Given the description of an element on the screen output the (x, y) to click on. 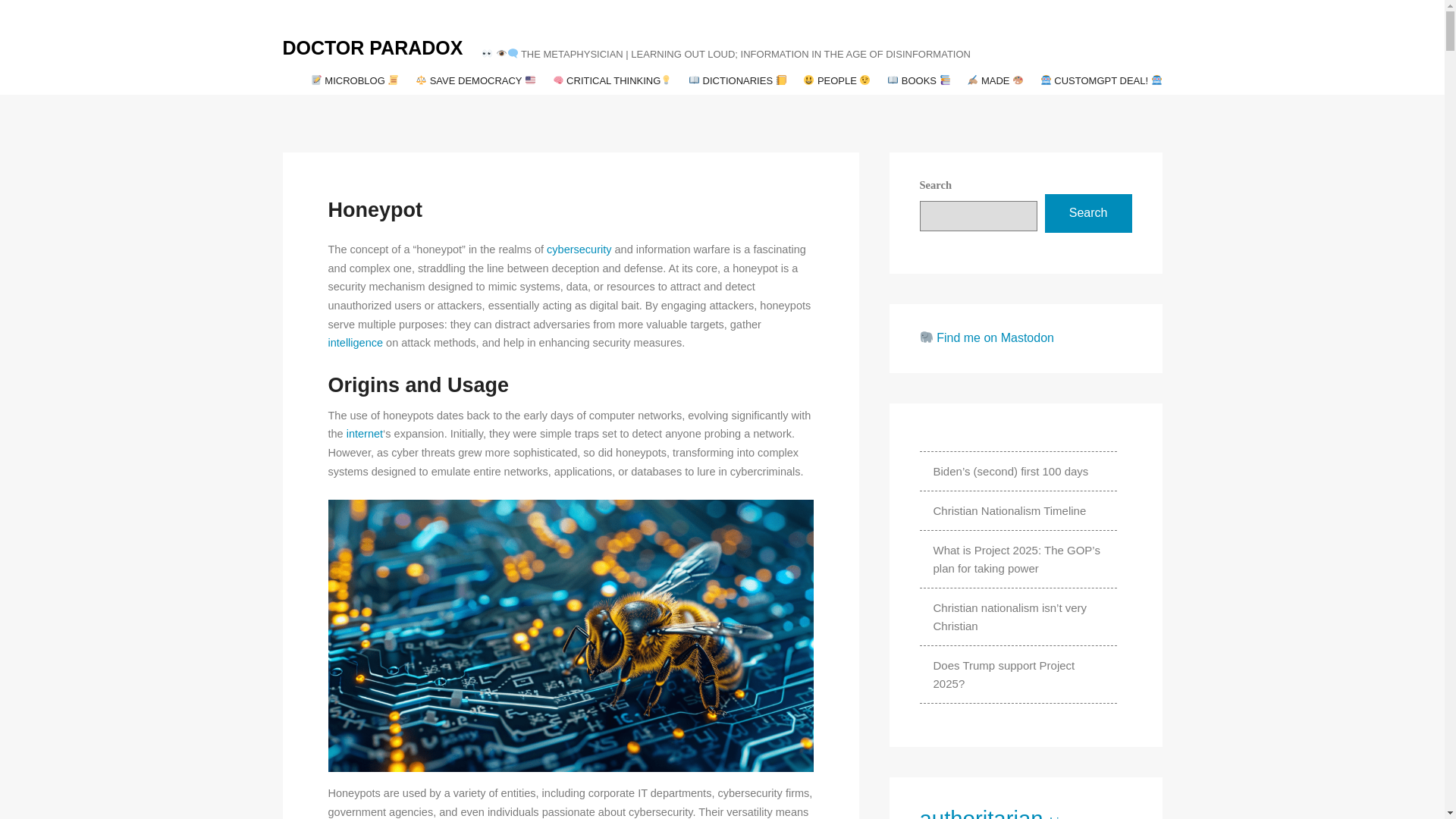
MICROBLOG (354, 80)
CRITICAL THINKING (612, 80)
DICTIONARIES (737, 80)
DOCTOR PARADOX (372, 48)
SAVE DEMOCRACY (474, 80)
